Given the description of an element on the screen output the (x, y) to click on. 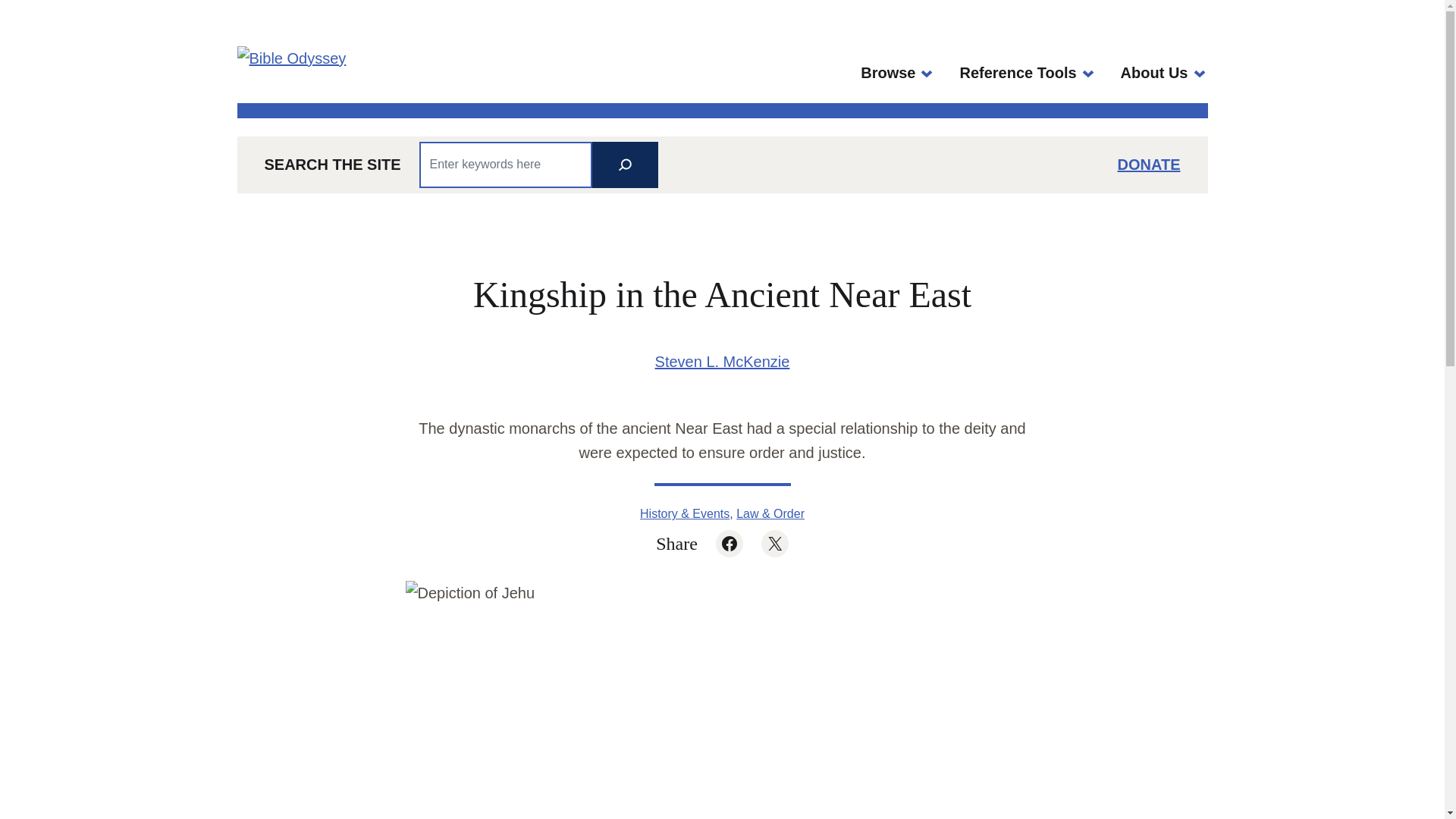
About Us (1154, 72)
 - opens in a new window (1149, 164)
 - opens in a new window (775, 543)
DONATE (1149, 164)
 - opens in a new window (1154, 72)
 - opens in a new window (887, 72)
Steven L. McKenzie (722, 361)
Browse (887, 72)
Share on Twitter (775, 543)
Reference Tools (1017, 72)
 - opens in a new window (729, 543)
Share on Facebook (729, 543)
